Given the description of an element on the screen output the (x, y) to click on. 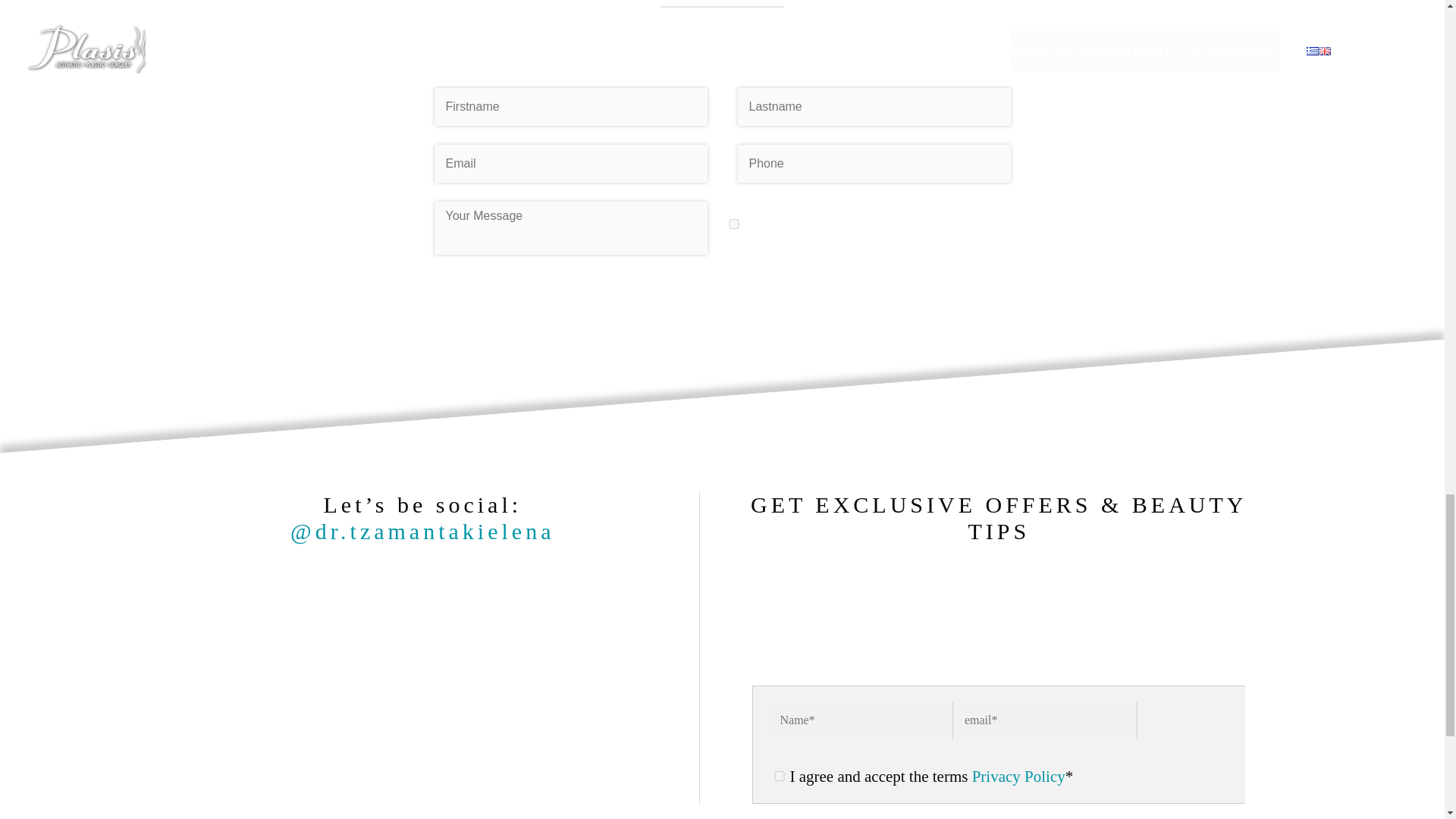
1 (779, 775)
1 (733, 223)
